Given the description of an element on the screen output the (x, y) to click on. 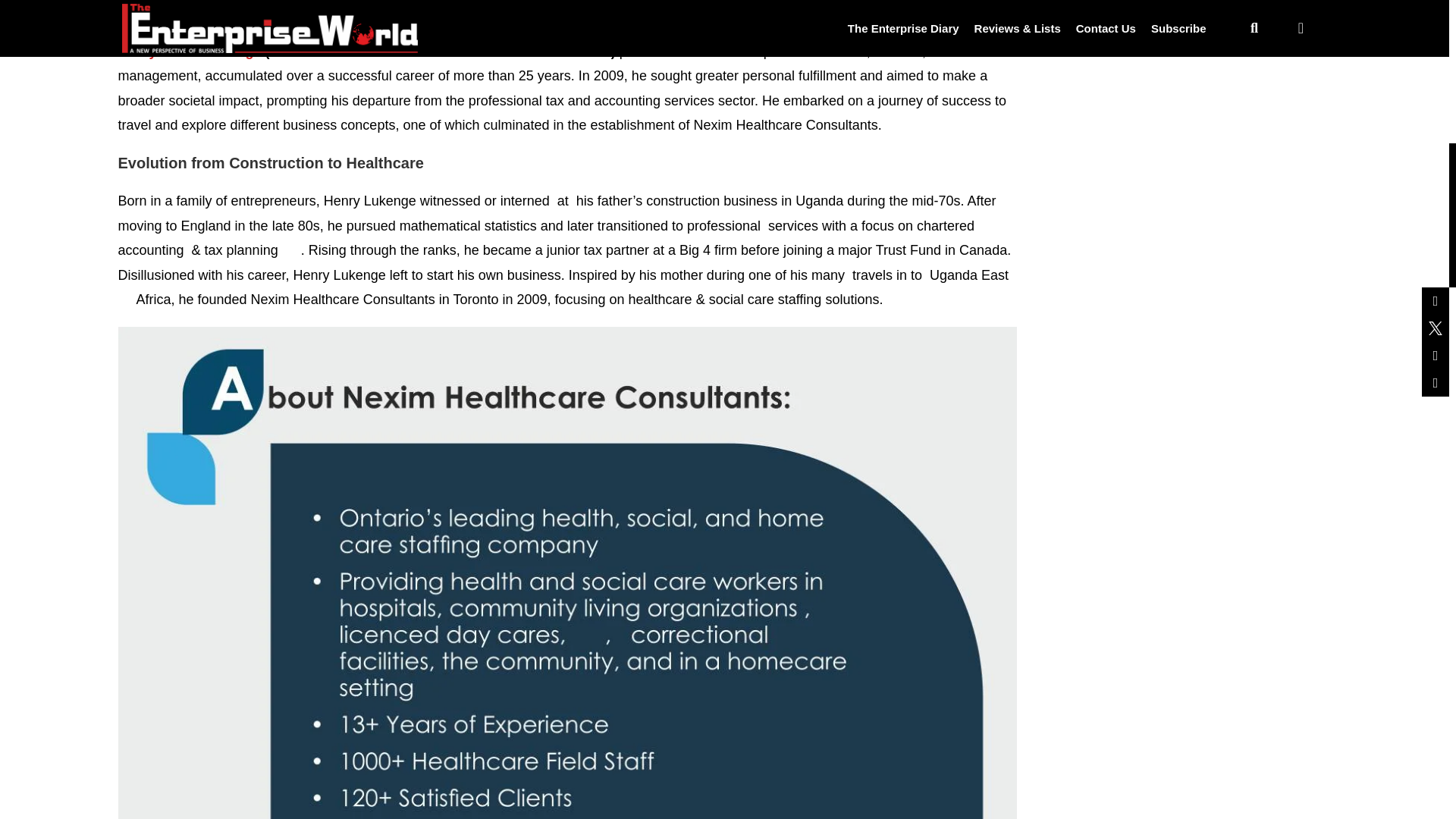
Henry Kalule Lukeng (185, 51)
Nexim Healthcare Consultants (512, 51)
